Given the description of an element on the screen output the (x, y) to click on. 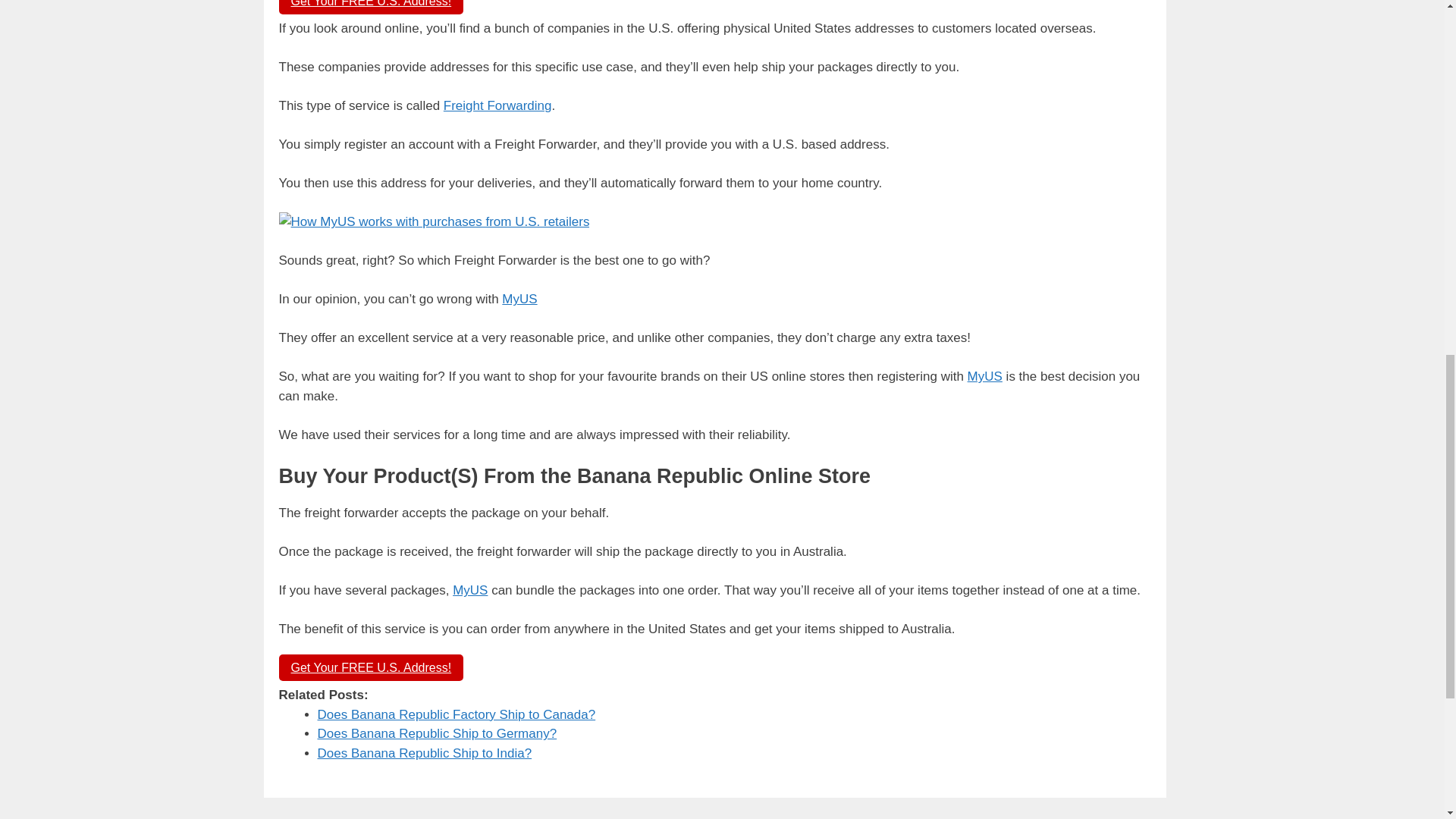
Get Your FREE U.S. Address! (371, 667)
Freight Forwarding (497, 105)
MyUS (469, 590)
MyUS (985, 376)
Does Banana Republic Factory Ship to Canada? (456, 714)
MyUS (519, 298)
Does Banana Republic Ship to Germany? (436, 733)
Get Your FREE U.S. Address! (371, 7)
Does Banana Republic Ship to India? (424, 753)
